Given the description of an element on the screen output the (x, y) to click on. 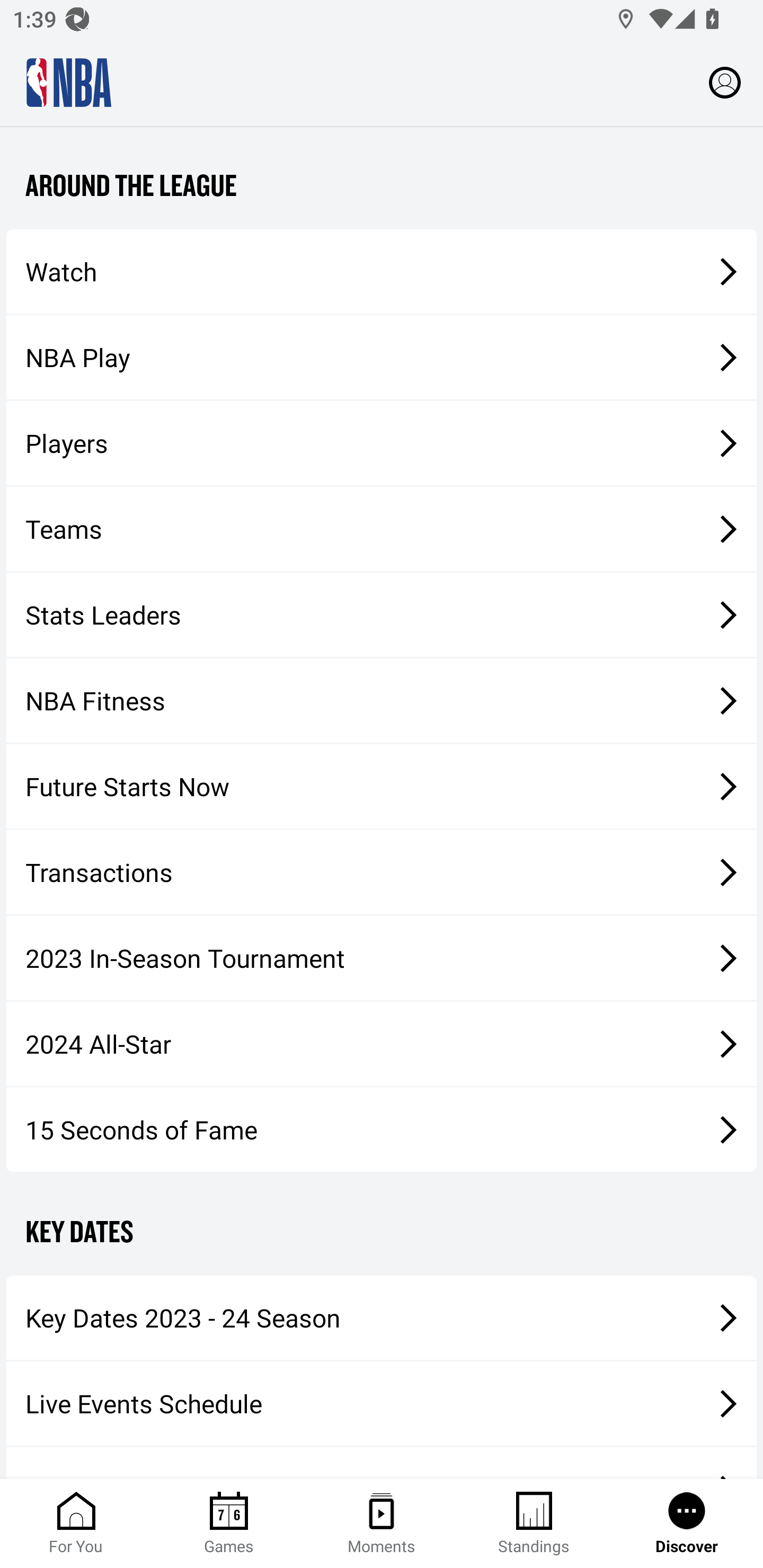
Profile (724, 81)
Watch (381, 270)
NBA Play (381, 357)
Players (381, 442)
Teams (381, 528)
Stats Leaders (381, 614)
NBA Fitness (381, 700)
Future Starts Now (381, 785)
Transactions (381, 871)
2023 In-Season Tournament (381, 957)
2024 All-Star (381, 1043)
15 Seconds of Fame (381, 1129)
Key Dates 2023 - 24 Season (381, 1317)
Live Events Schedule (381, 1403)
For You (76, 1523)
Games (228, 1523)
Moments (381, 1523)
Standings (533, 1523)
